Given the description of an element on the screen output the (x, y) to click on. 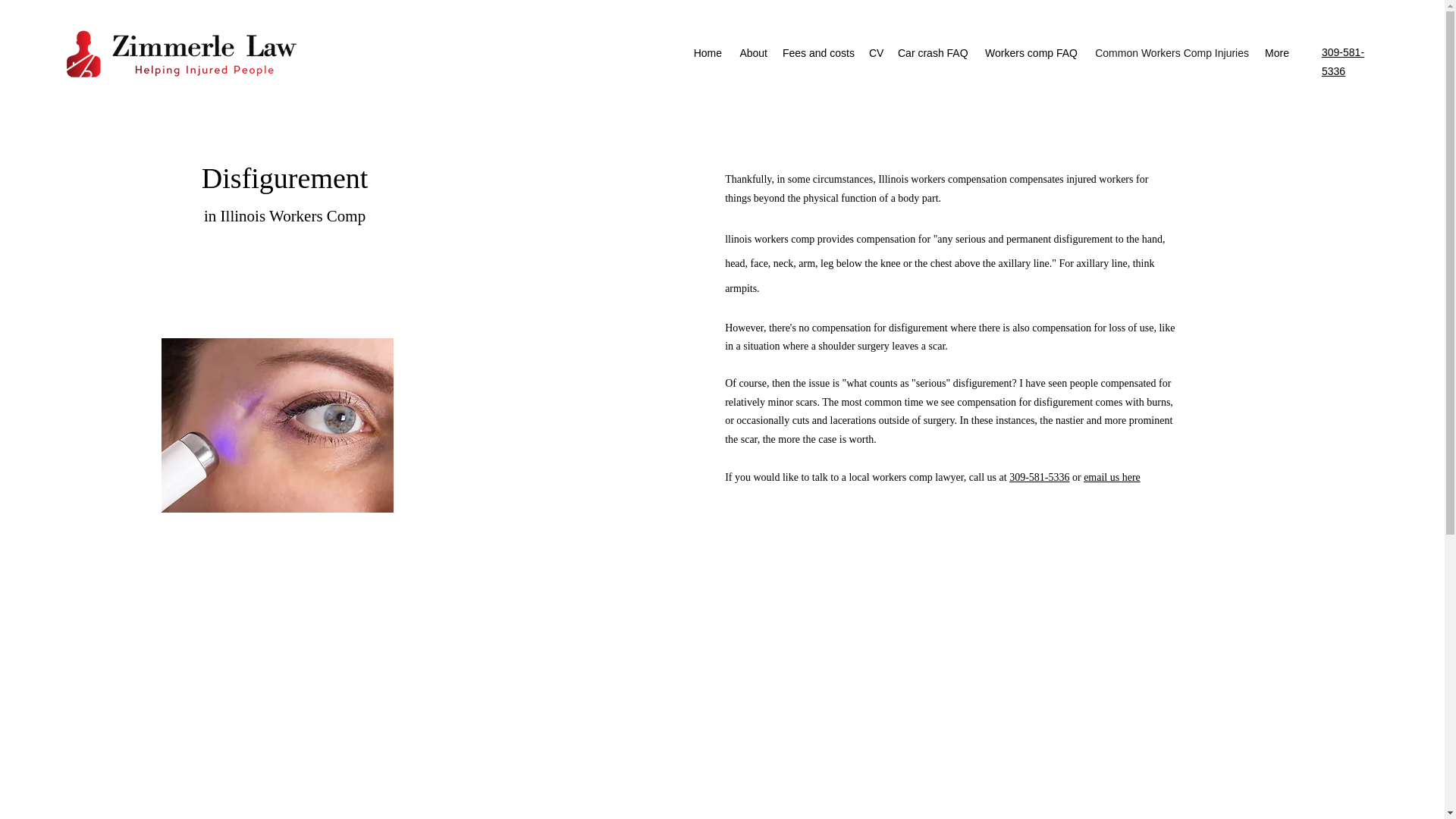
Fees and costs (817, 52)
309-581-5336 (1343, 60)
Car crash FAQ (932, 52)
Home (707, 52)
Common Workers Comp Injuries (1170, 52)
Workers comp FAQ (1029, 52)
309-581-5336 (1038, 477)
Closeup woman holding her wrist pain fro (277, 425)
email us here (1111, 477)
CV (875, 52)
